Given the description of an element on the screen output the (x, y) to click on. 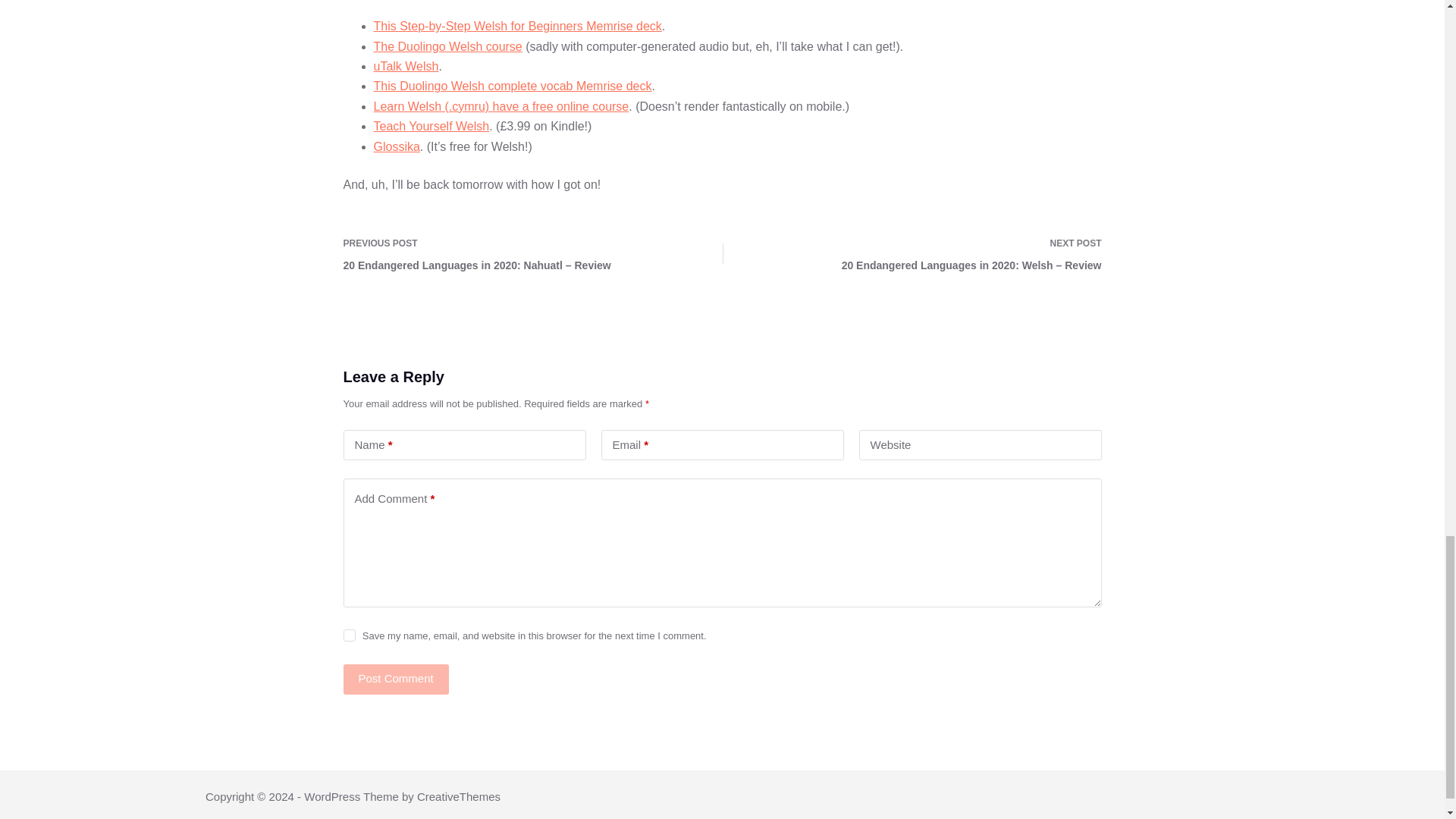
This Step-by-Step Welsh for Beginners Memrise deck (516, 25)
yes (348, 635)
The Duolingo Welsh course (446, 46)
uTalk Welsh (405, 65)
Glossika (395, 146)
This Duolingo Welsh complete vocab Memrise deck (511, 85)
Teach Yourself Welsh (430, 125)
